Given the description of an element on the screen output the (x, y) to click on. 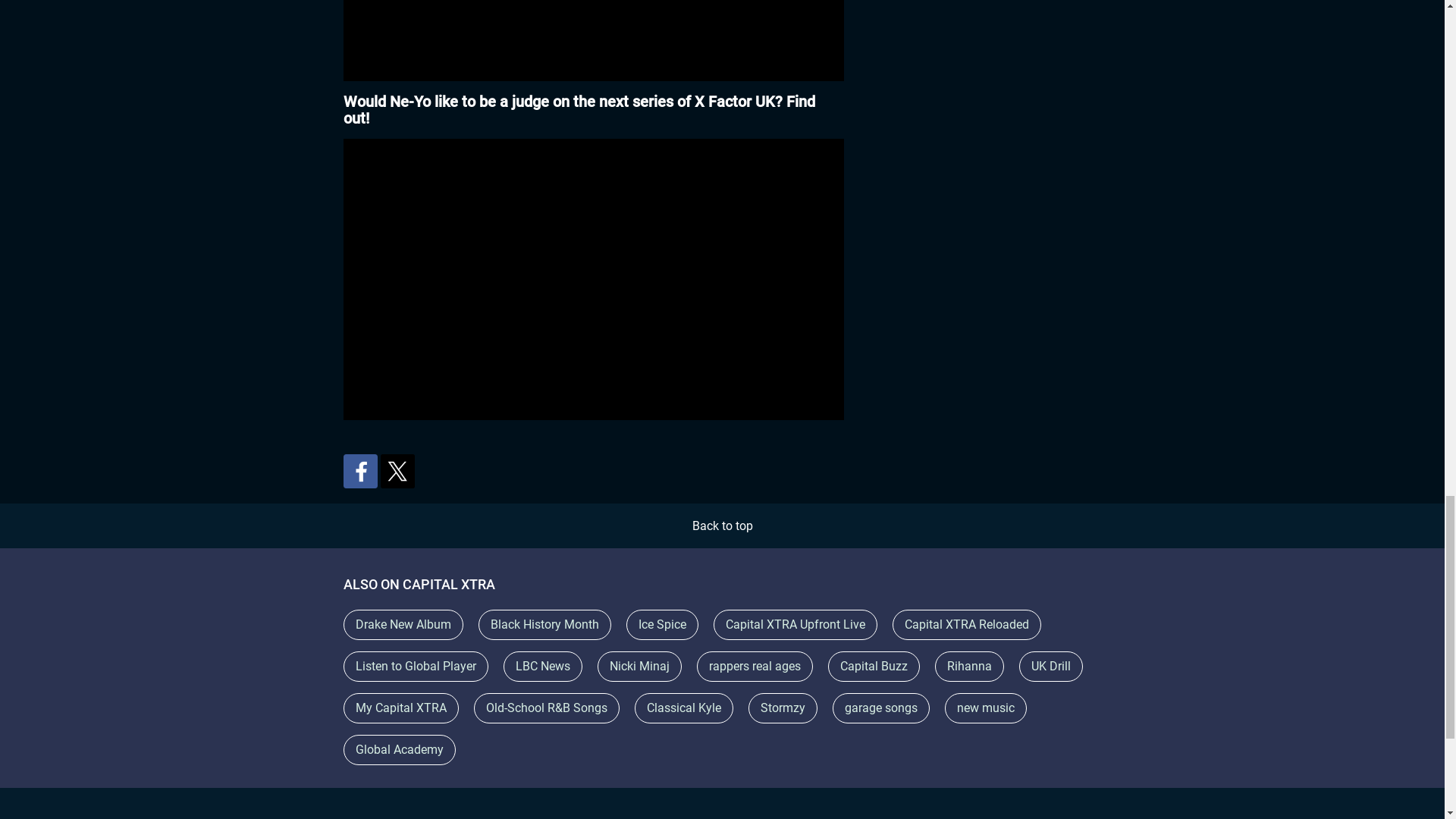
Back to top (721, 525)
Drake New Album (402, 624)
Back to top (721, 525)
